Given the description of an element on the screen output the (x, y) to click on. 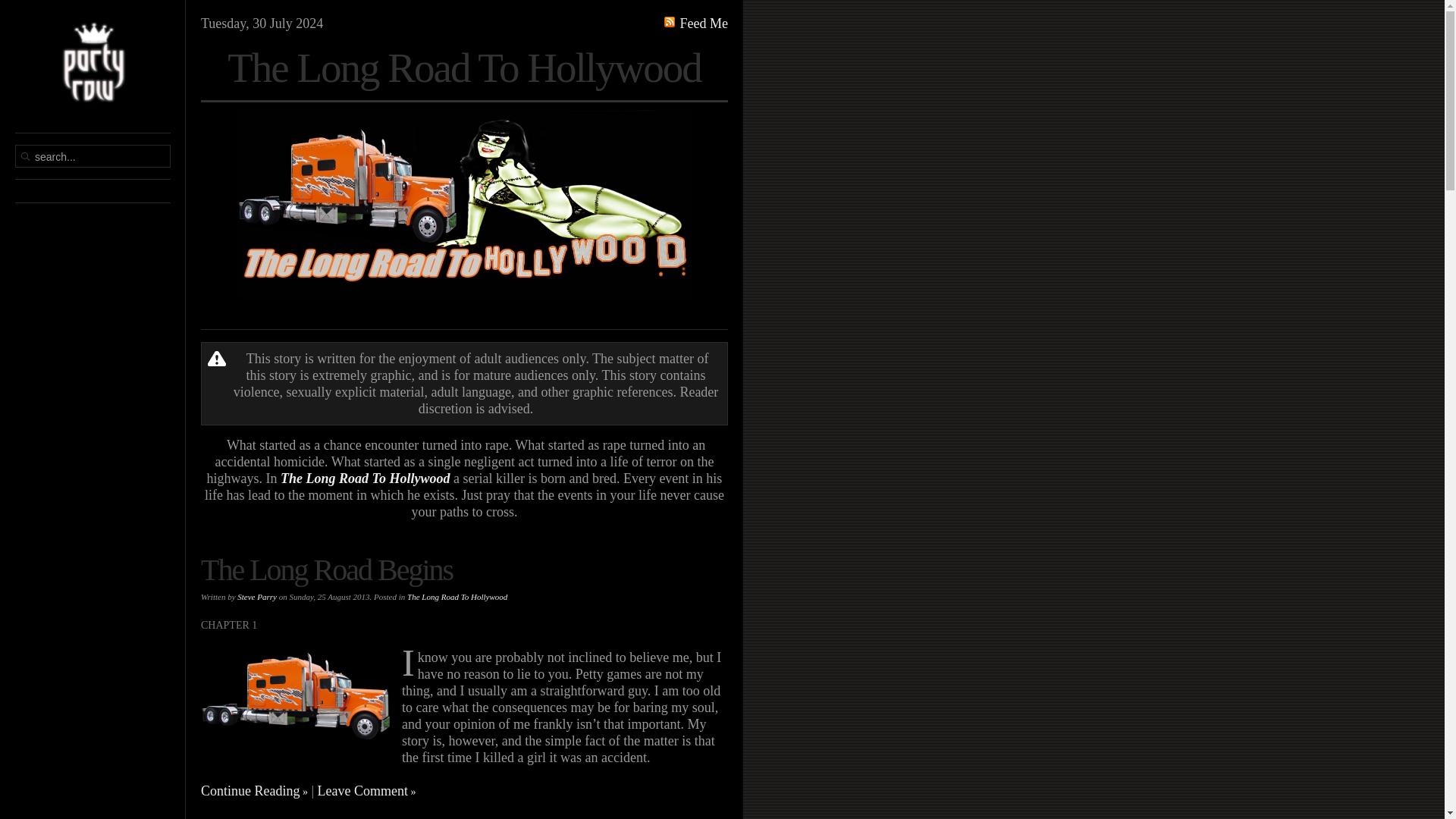
Continue Reading (253, 790)
The Long Road Begins (326, 569)
Leave Comment (366, 790)
Feed Me (695, 23)
The Long Road To Hollywood (463, 213)
Reset (3, 2)
Steve Parry (256, 596)
The Long Road Begins (295, 690)
Steve Parry (256, 596)
The Long Road To Hollywood (456, 596)
The Long Road Begins (326, 569)
The Long Road Begins (295, 691)
